Given the description of an element on the screen output the (x, y) to click on. 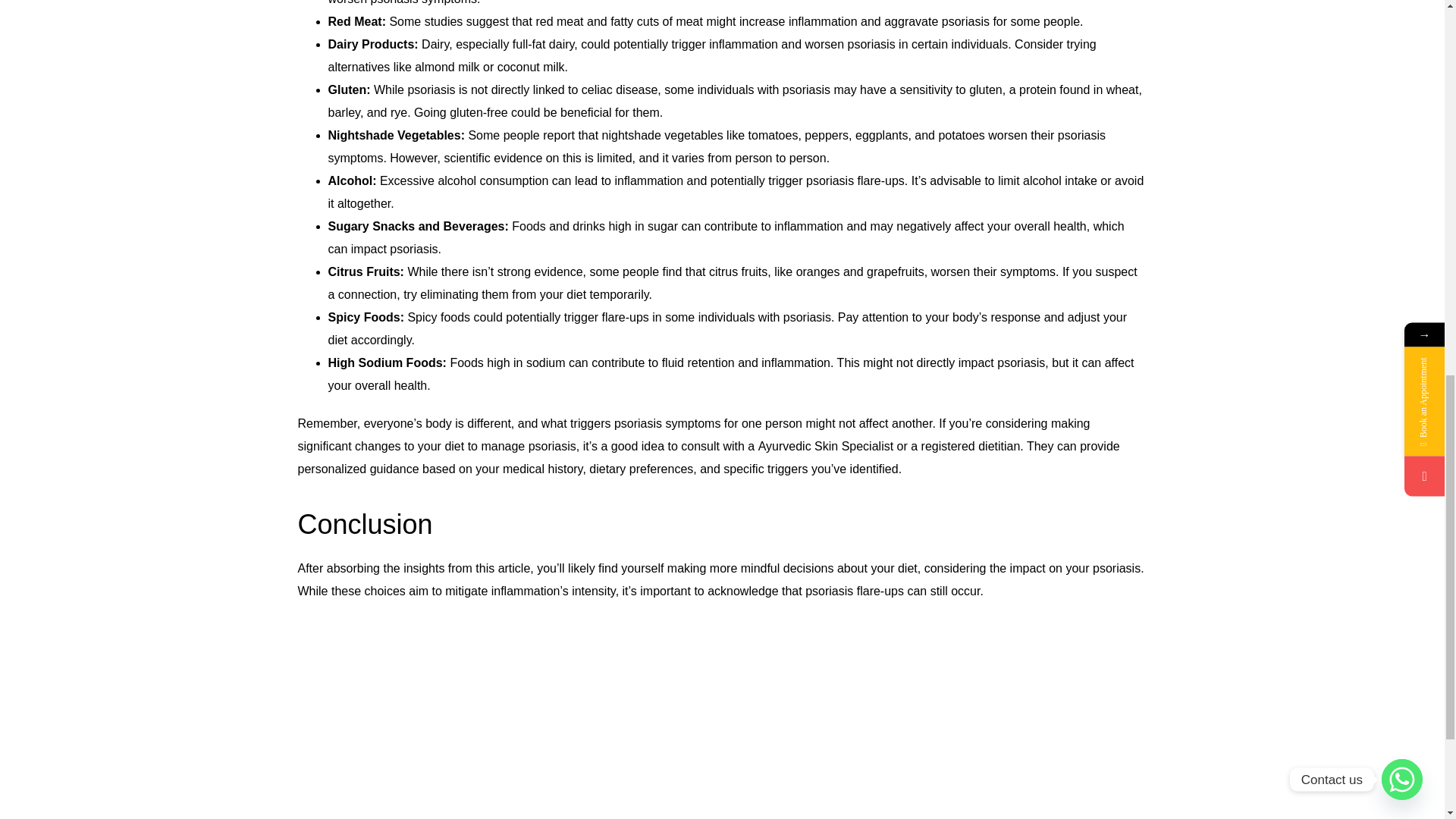
psoriasis symptoms (667, 422)
Ayurvedic Skin Specialist (827, 445)
